Given the description of an element on the screen output the (x, y) to click on. 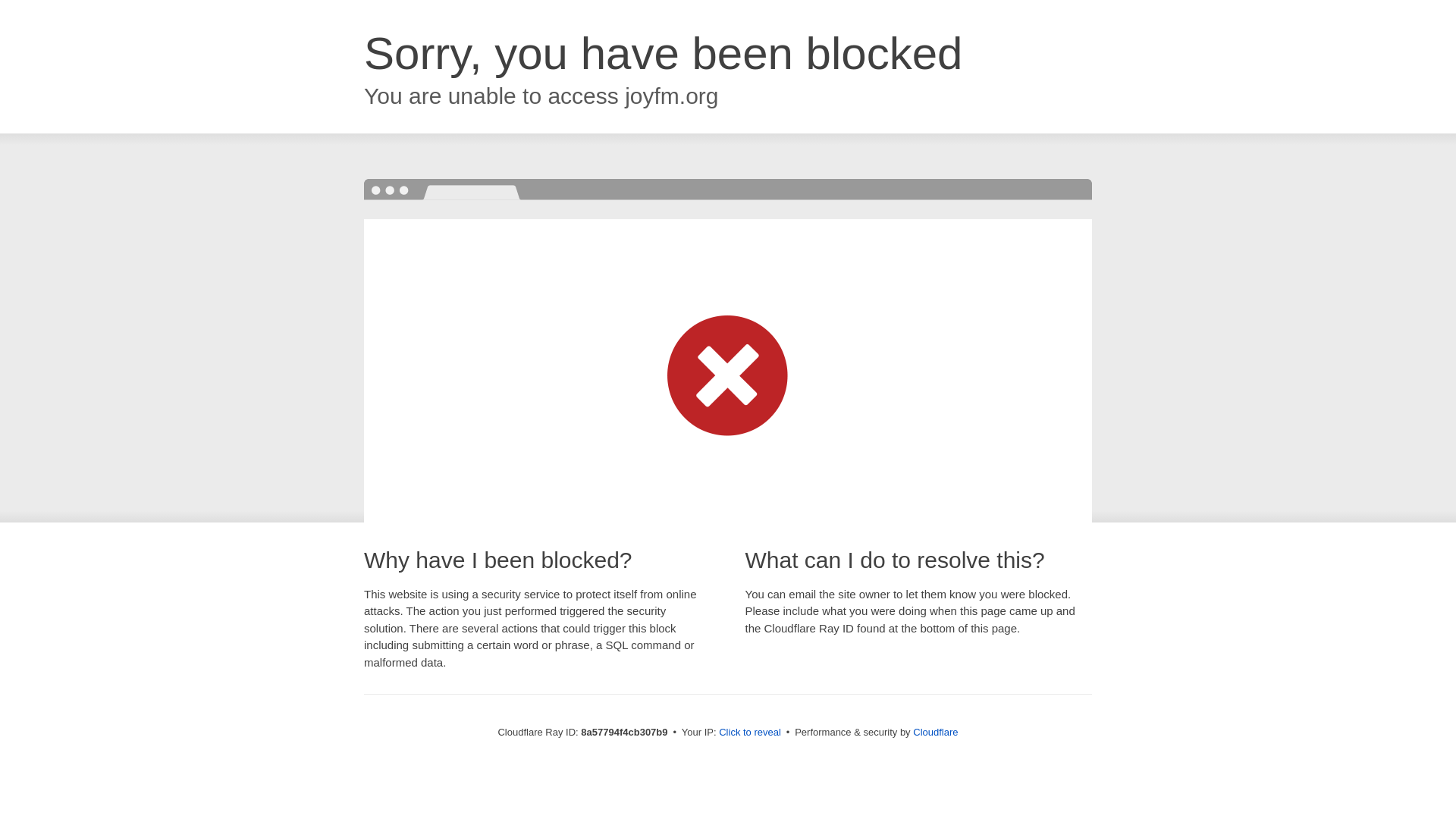
Click to reveal (749, 732)
Cloudflare (935, 731)
